Given the description of an element on the screen output the (x, y) to click on. 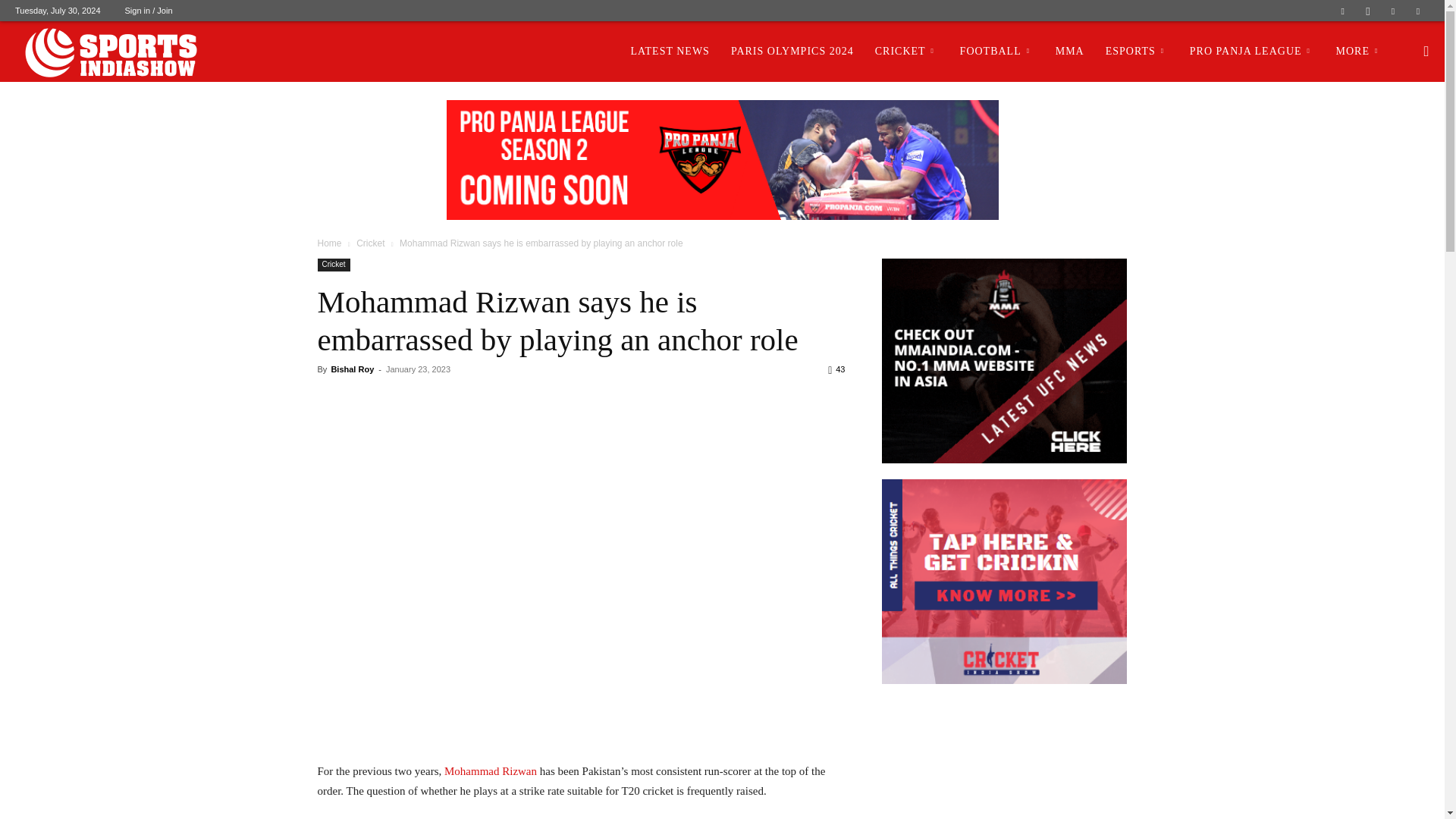
Twitter (1393, 10)
Facebook (1343, 10)
Youtube (1417, 10)
Instagram (1367, 10)
